Given the description of an element on the screen output the (x, y) to click on. 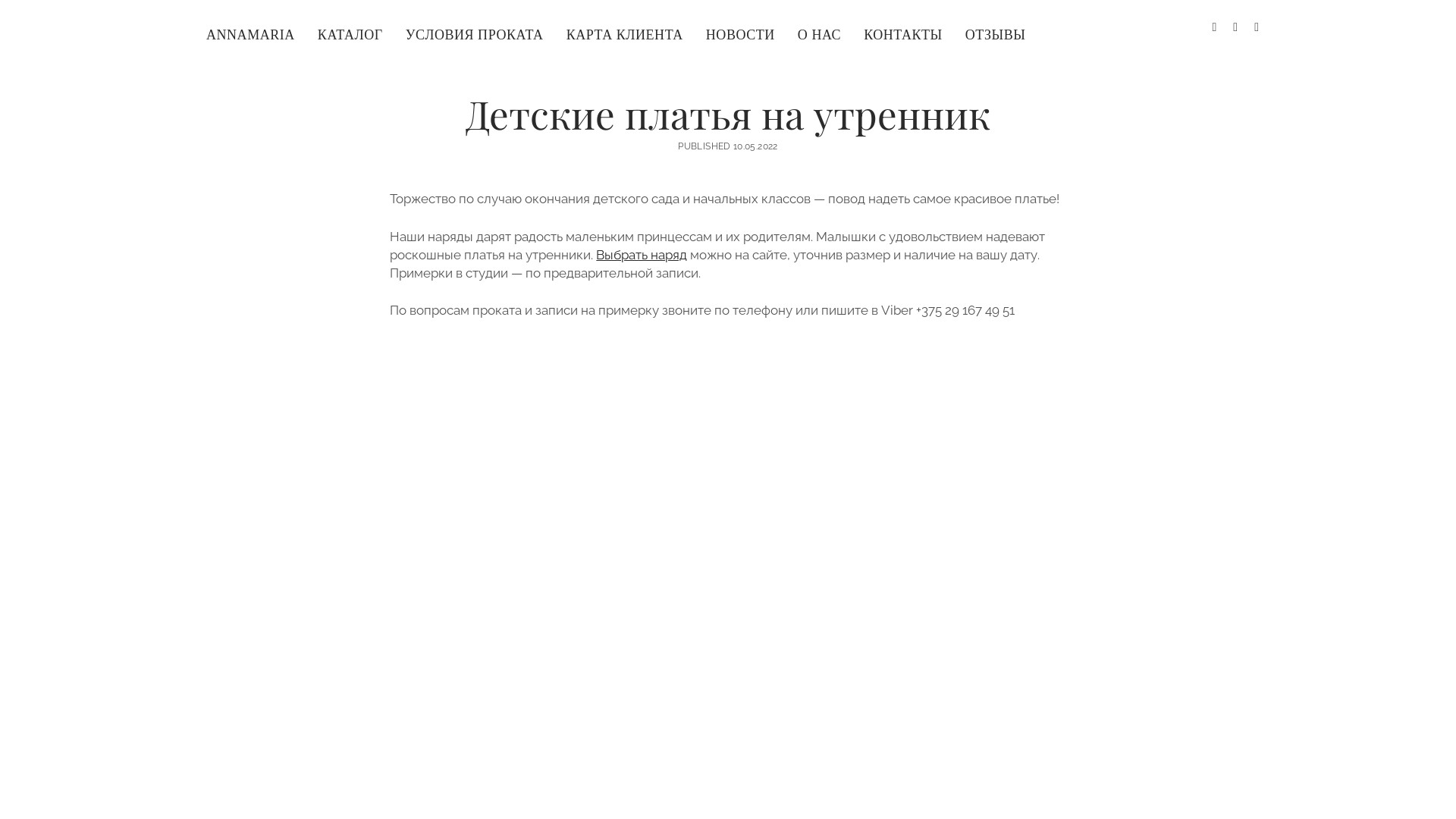
ANNAMARIA Element type: text (250, 35)
instagram Element type: text (1235, 26)
vk Element type: text (1256, 26)
facebook Element type: hover (1213, 27)
facebook Element type: text (1213, 26)
instagram Element type: hover (1235, 27)
vk Element type: hover (1256, 27)
